Given the description of an element on the screen output the (x, y) to click on. 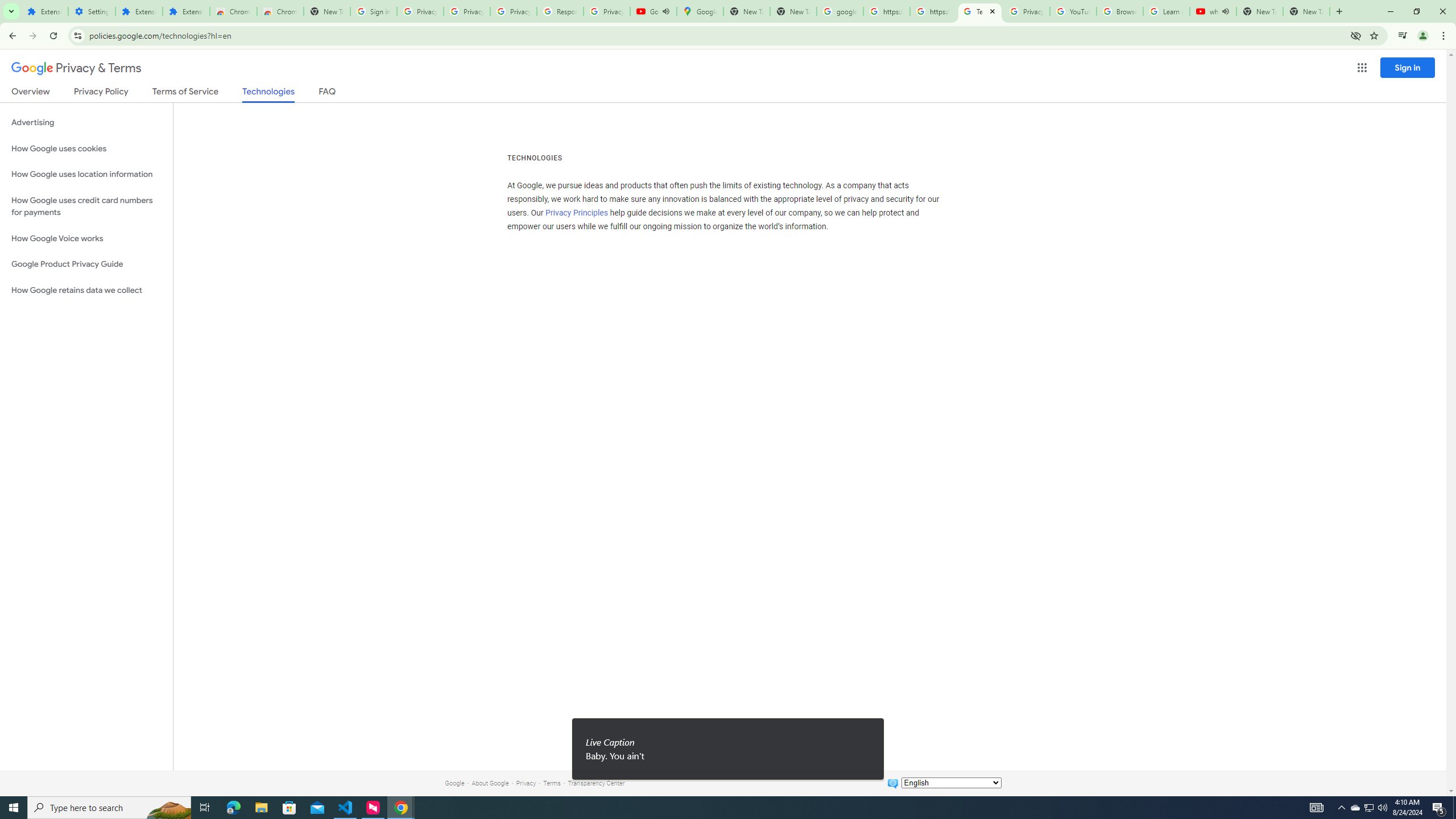
Chrome Web Store (233, 11)
Mute tab (1225, 10)
Extensions (186, 11)
New Tab (326, 11)
https://scholar.google.com/ (886, 11)
https://scholar.google.com/ (933, 11)
Browse Chrome as a guest - Computer - Google Chrome Help (1120, 11)
